Given the description of an element on the screen output the (x, y) to click on. 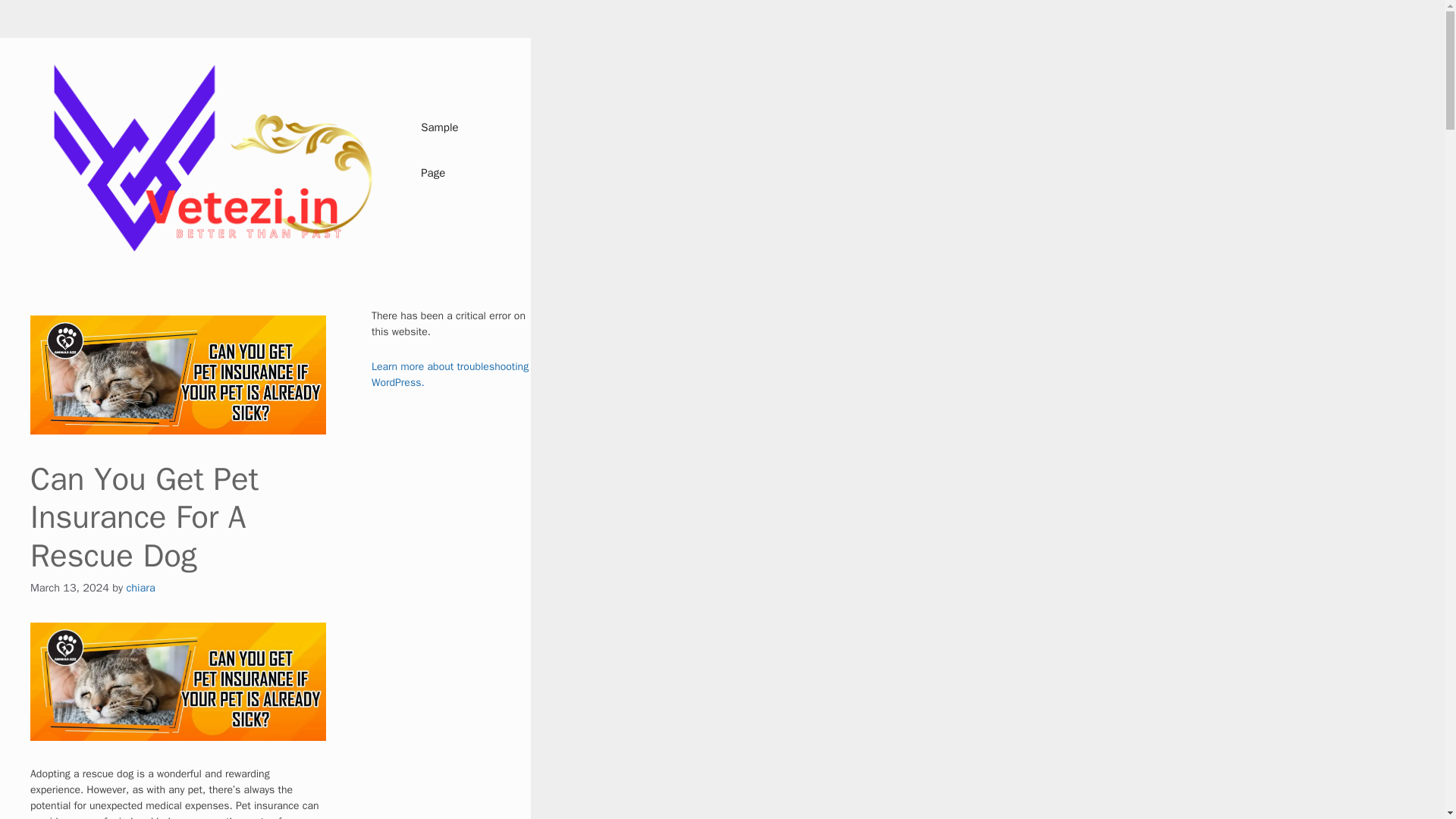
Sample Page (453, 149)
chiara (139, 587)
View all posts by chiara (139, 587)
Can You Get Pet Insurance For A Rescue Dog (178, 374)
Can You Get Pet Insurance For A Rescue Dog (178, 681)
Learn more about troubleshooting WordPress. (449, 374)
